Given the description of an element on the screen output the (x, y) to click on. 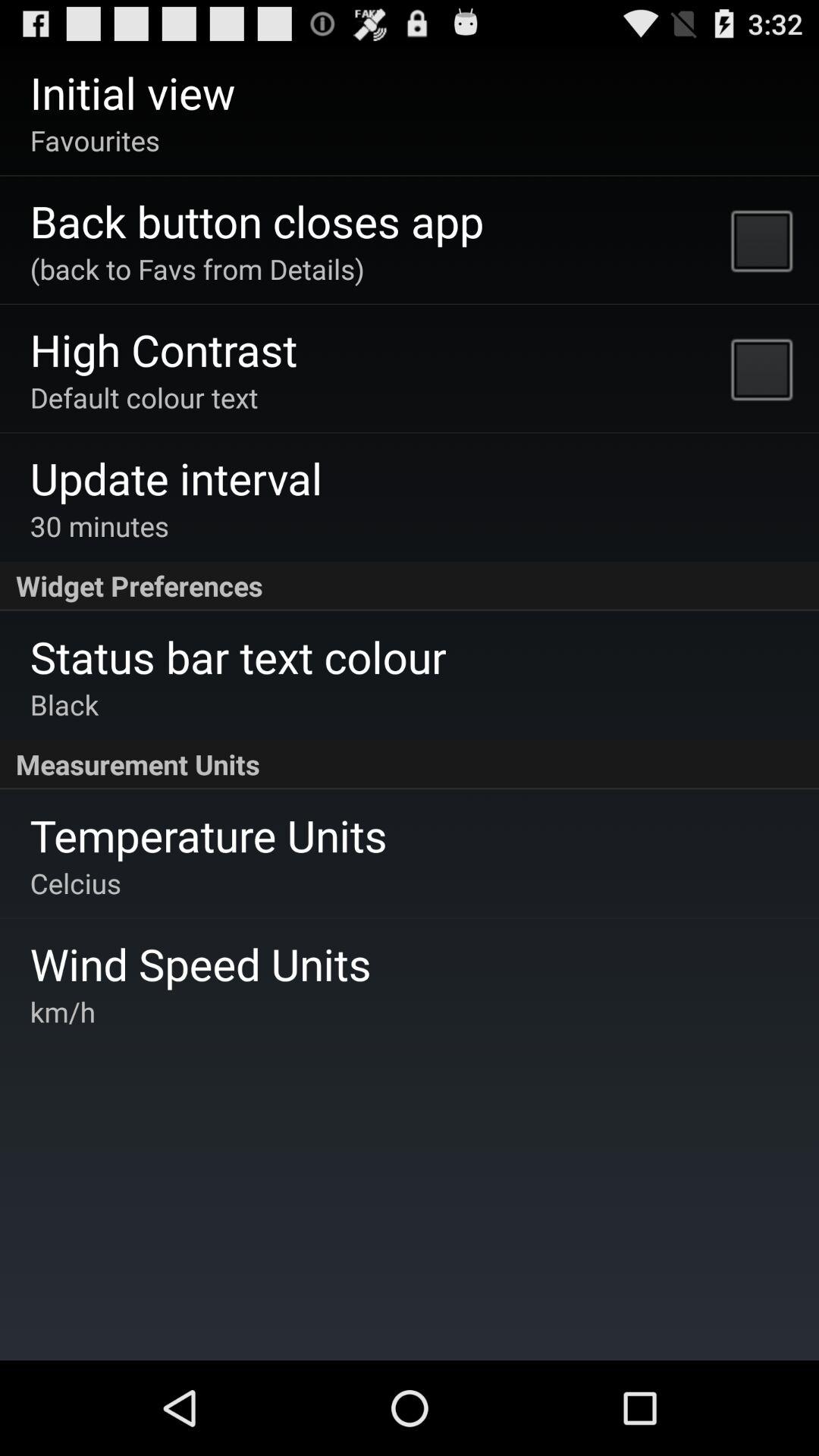
turn off icon below wind speed units app (62, 1011)
